Given the description of an element on the screen output the (x, y) to click on. 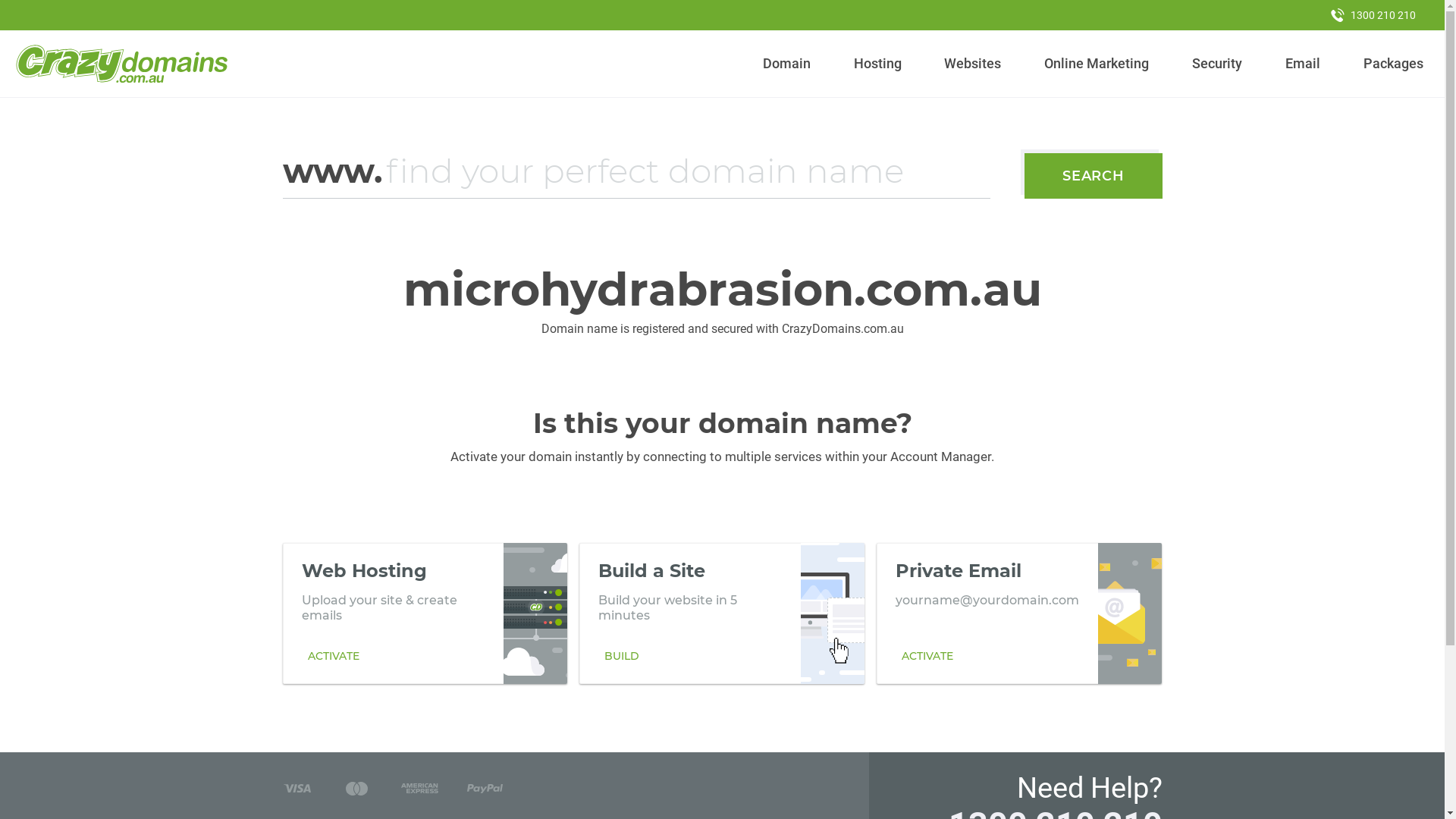
Build a Site
Build your website in 5 minutes
BUILD Element type: text (721, 613)
SEARCH Element type: text (1092, 175)
Online Marketing Element type: text (1096, 63)
Email Element type: text (1302, 63)
Websites Element type: text (972, 63)
Security Element type: text (1217, 63)
1300 210 210 Element type: text (1373, 15)
Web Hosting
Upload your site & create emails
ACTIVATE Element type: text (424, 613)
Packages Element type: text (1392, 63)
Hosting Element type: text (877, 63)
Domain Element type: text (786, 63)
Private Email
yourname@yourdomain.com
ACTIVATE Element type: text (1018, 613)
